Given the description of an element on the screen output the (x, y) to click on. 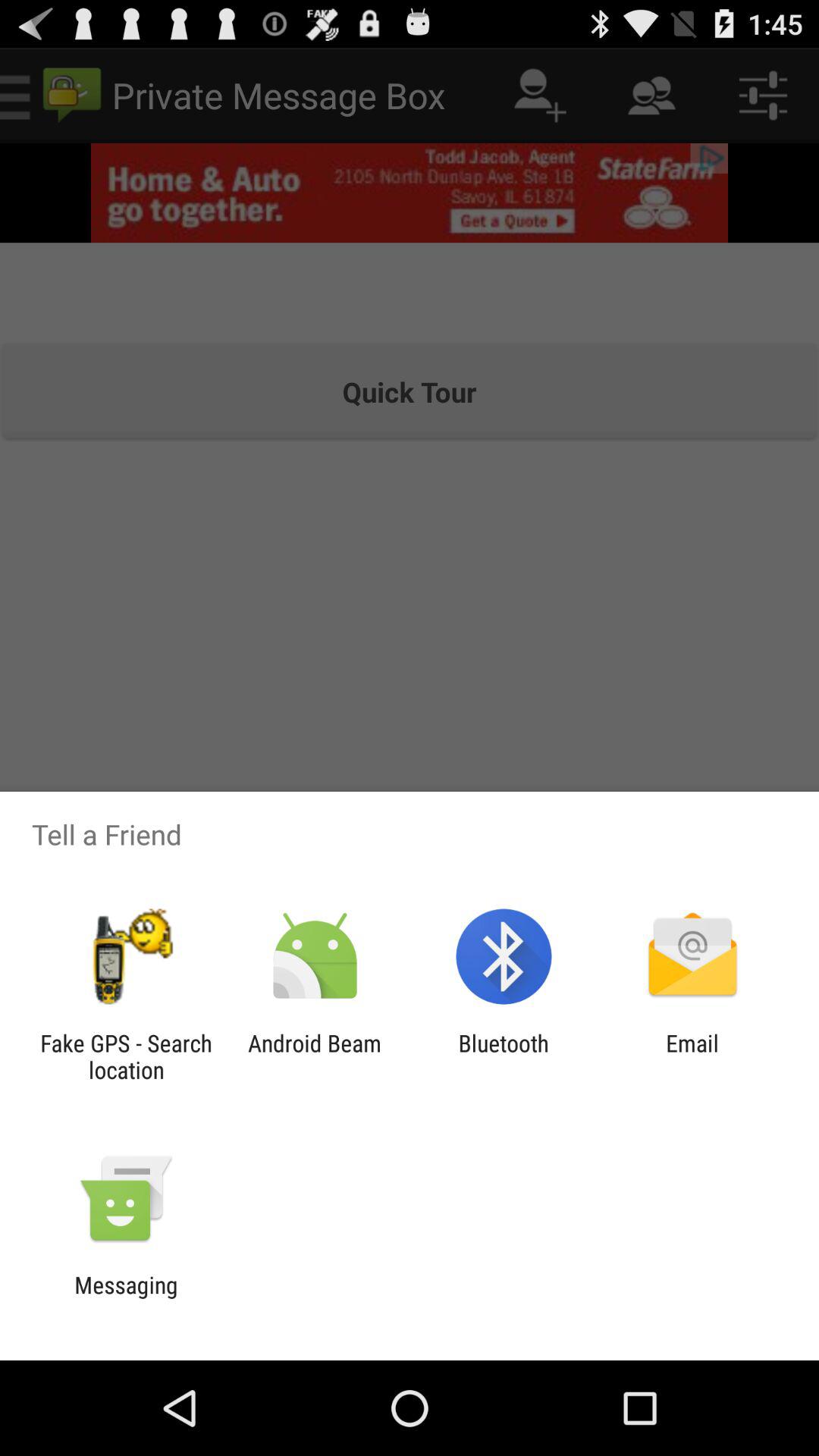
press the email icon (692, 1056)
